Given the description of an element on the screen output the (x, y) to click on. 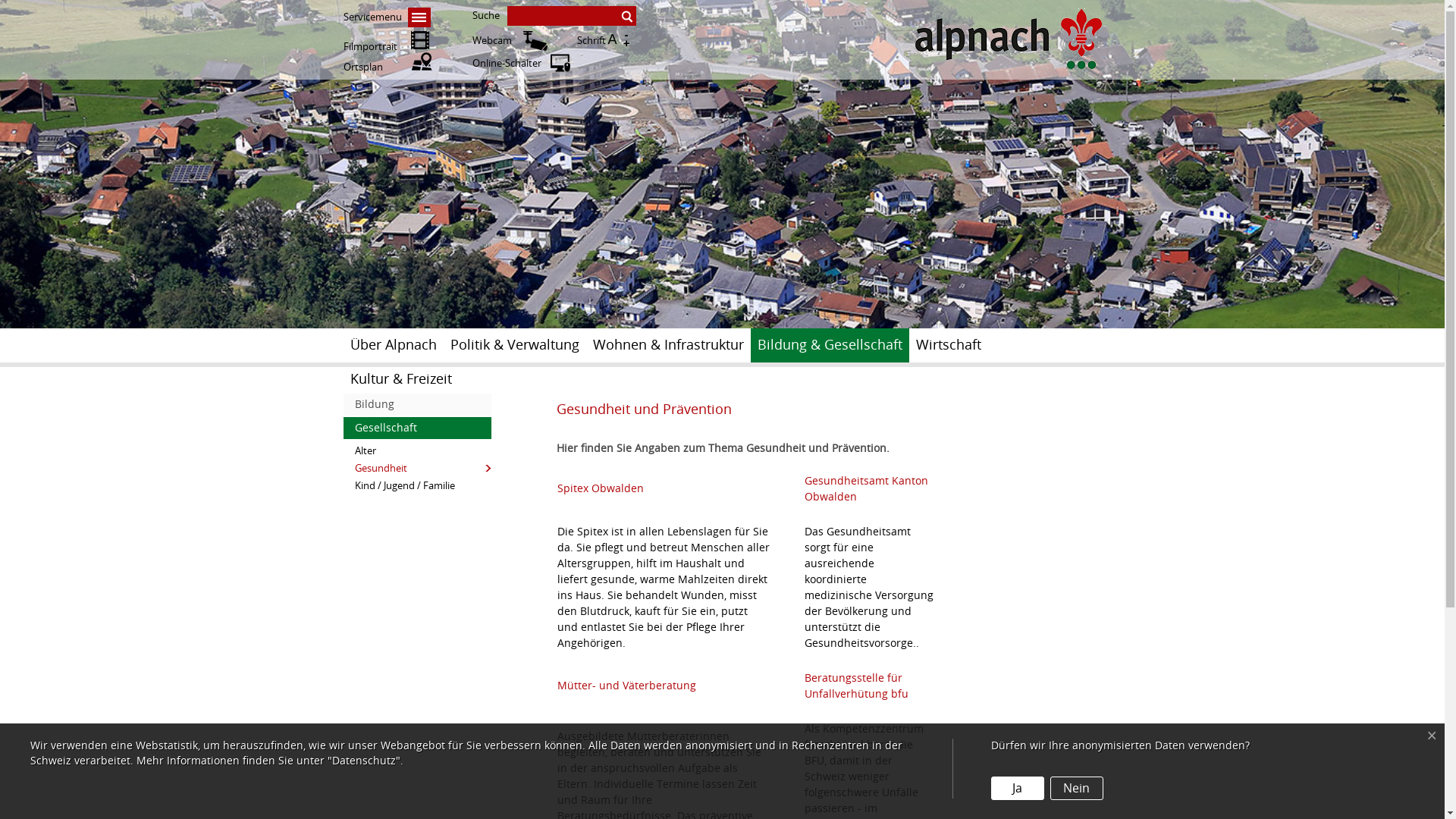
Alter Element type: text (416, 450)
Spitex Obwalden Element type: text (599, 488)
Filmportrait Element type: text (386, 46)
Kultur & Freizeit Element type: text (400, 379)
Bildung & Gesellschaft Element type: text (829, 345)
Ja Element type: text (1017, 788)
Gesellschaft Element type: text (416, 428)
Webcam Element type: text (491, 40)
Kind / Jugend / Familie Element type: text (416, 485)
Nein Element type: text (1076, 788)
Gesundheitsamt Kanton Obwalden Element type: text (866, 488)
Gesundheit Element type: text (416, 468)
Wirtschaft Element type: text (947, 345)
Servicemenu Element type: text (385, 17)
+ Element type: text (626, 42)
Bildung Element type: text (416, 404)
Wohnen & Infrastruktur Element type: text (667, 345)
Online-Schalter Element type: text (505, 63)
A Element type: text (612, 40)
Ortsplan Element type: text (386, 66)
Politik & Verwaltung Element type: text (513, 345)
- Element type: text (626, 34)
